Given the description of an element on the screen output the (x, y) to click on. 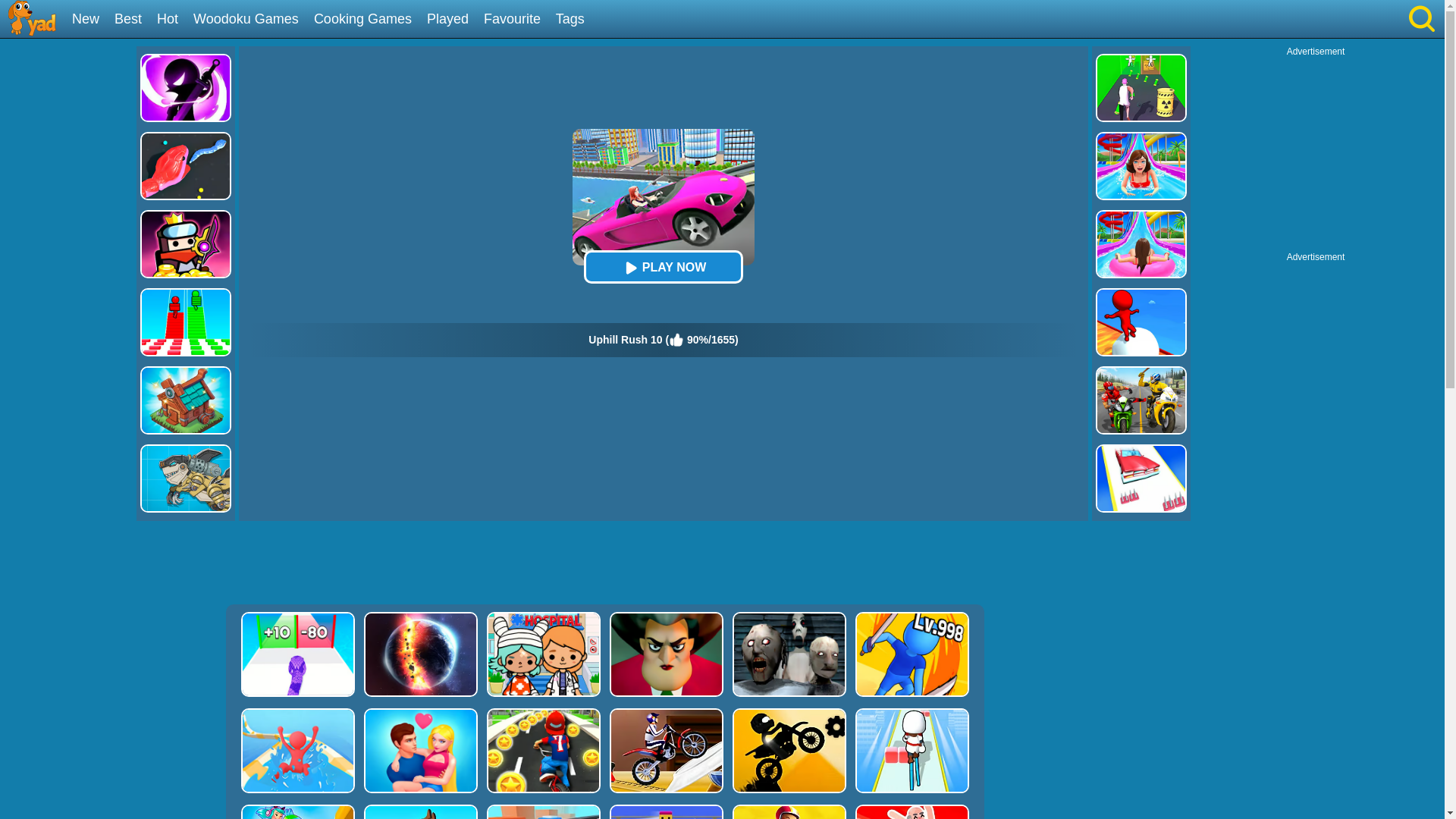
PLAY NOW (662, 266)
Favourite (517, 20)
Hot (173, 20)
Best (133, 20)
Played (453, 20)
Cooking Games (368, 20)
Tags (575, 20)
Advertisement (1315, 152)
Advertisement (603, 562)
